Given the description of an element on the screen output the (x, y) to click on. 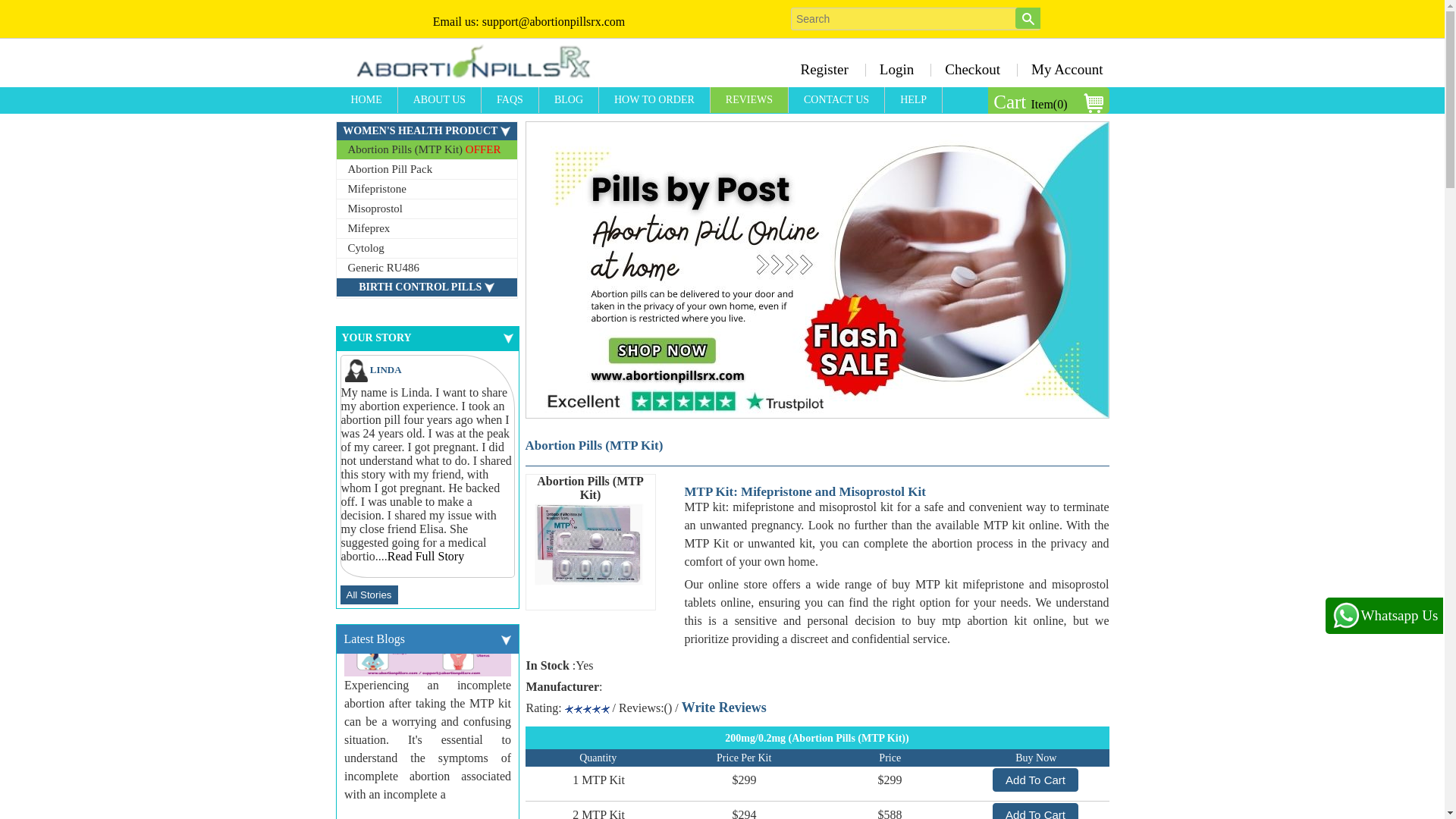
Cytolog (426, 248)
Mifepristone (426, 189)
ABOUT US (439, 99)
HELP (913, 99)
REVIEWS (749, 99)
My Account (1062, 68)
BLOG (568, 99)
CONTACT US (837, 99)
Abortion Pill Pack (426, 169)
Checkout (972, 68)
Read Full Story (425, 555)
Misoprostol (426, 209)
HOW TO ORDER (654, 99)
Generic RU486 (426, 268)
